Given the description of an element on the screen output the (x, y) to click on. 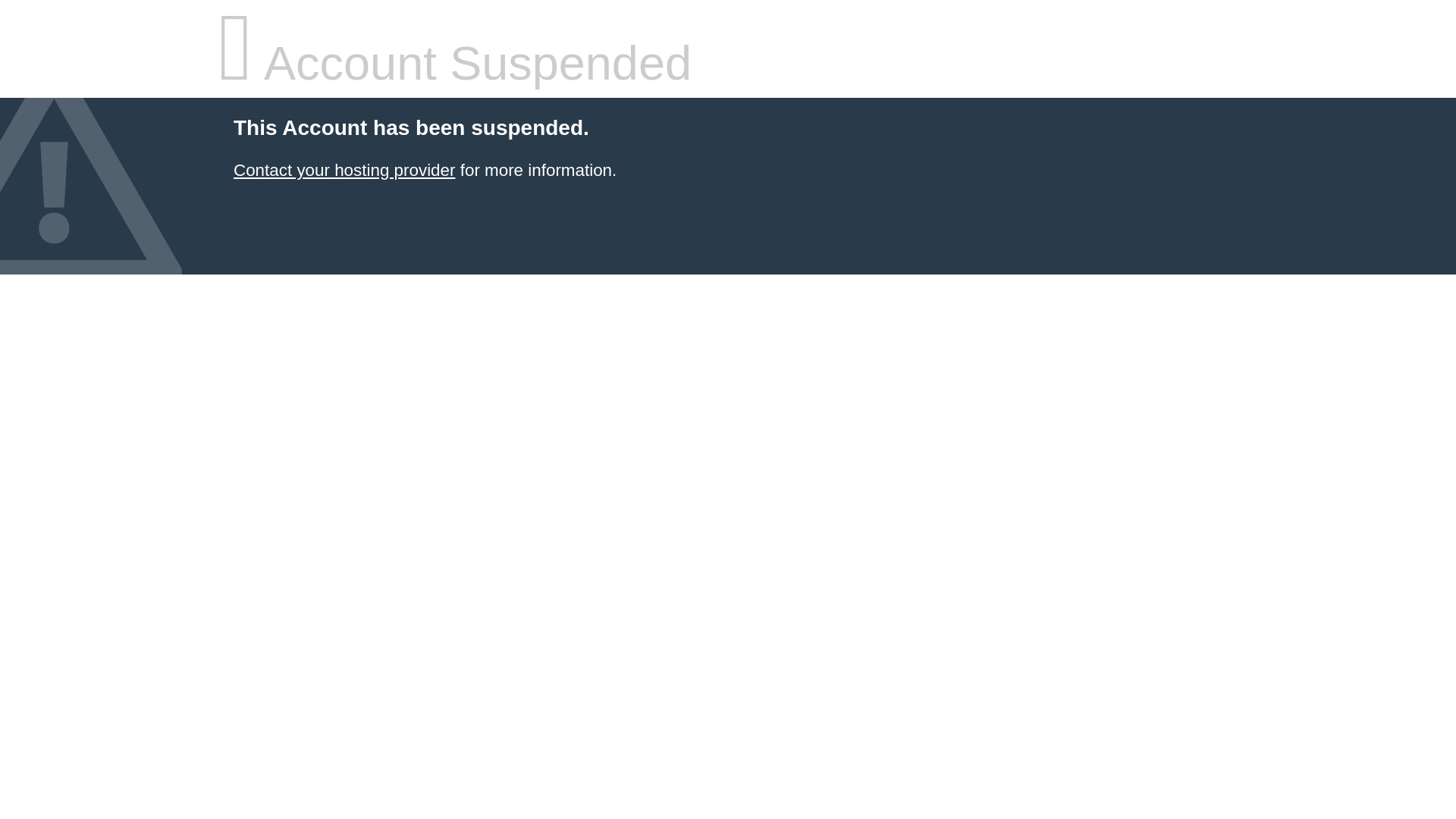
Contact your hosting provider (343, 169)
